Given the description of an element on the screen output the (x, y) to click on. 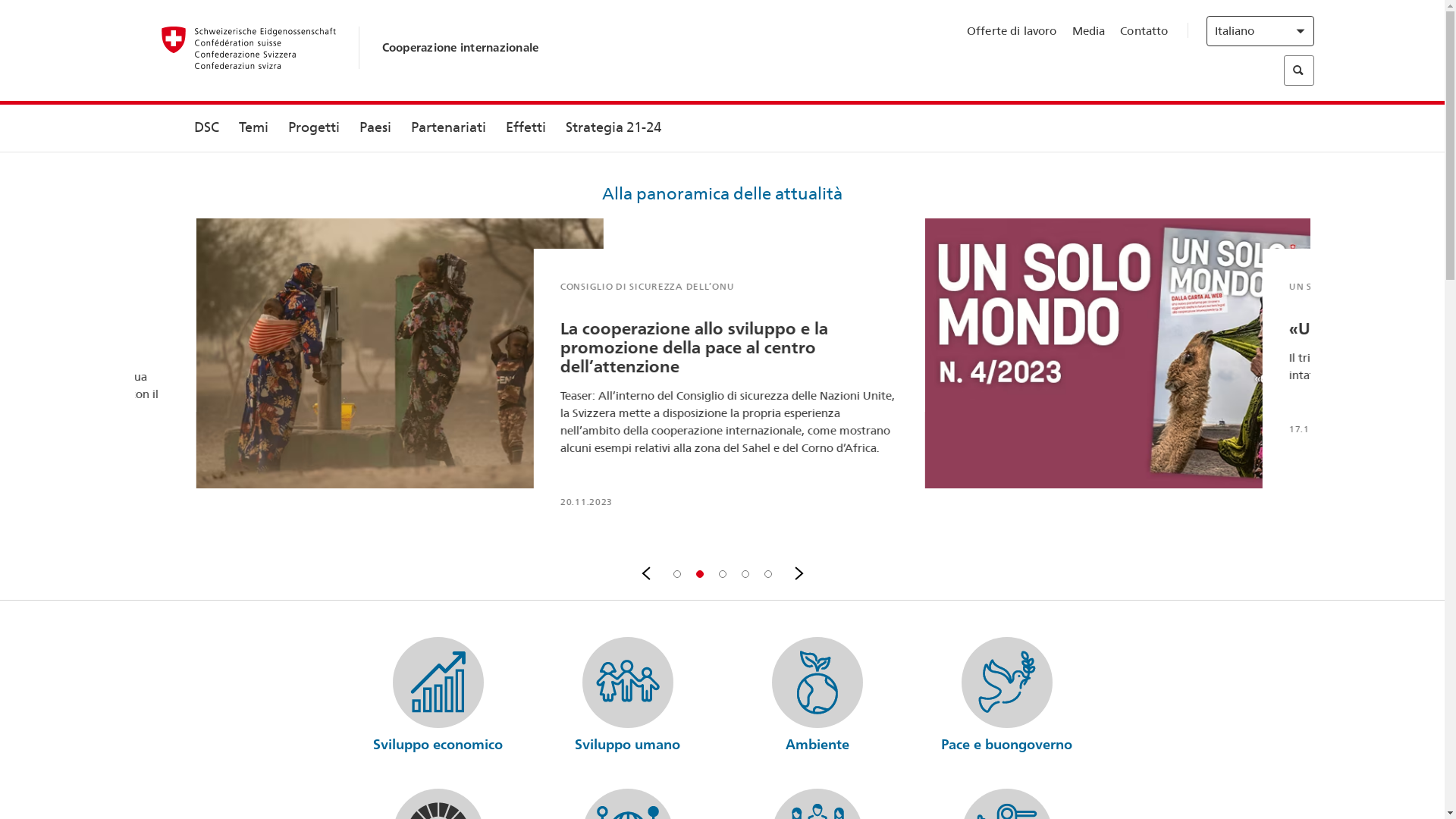
Temi Element type: text (253, 127)
Strategia 21-24 Element type: text (612, 127)
Progetti Element type: text (312, 127)
Partenariati Element type: text (447, 127)
Effetti Element type: text (525, 127)
Contatto Element type: text (1143, 30)
Paesi Element type: text (374, 127)
Offerte di lavoro Element type: text (1011, 30)
Cooperazione internazionale Element type: text (460, 47)
Media Element type: text (1088, 30)
DSC Element type: text (205, 127)
